Given the description of an element on the screen output the (x, y) to click on. 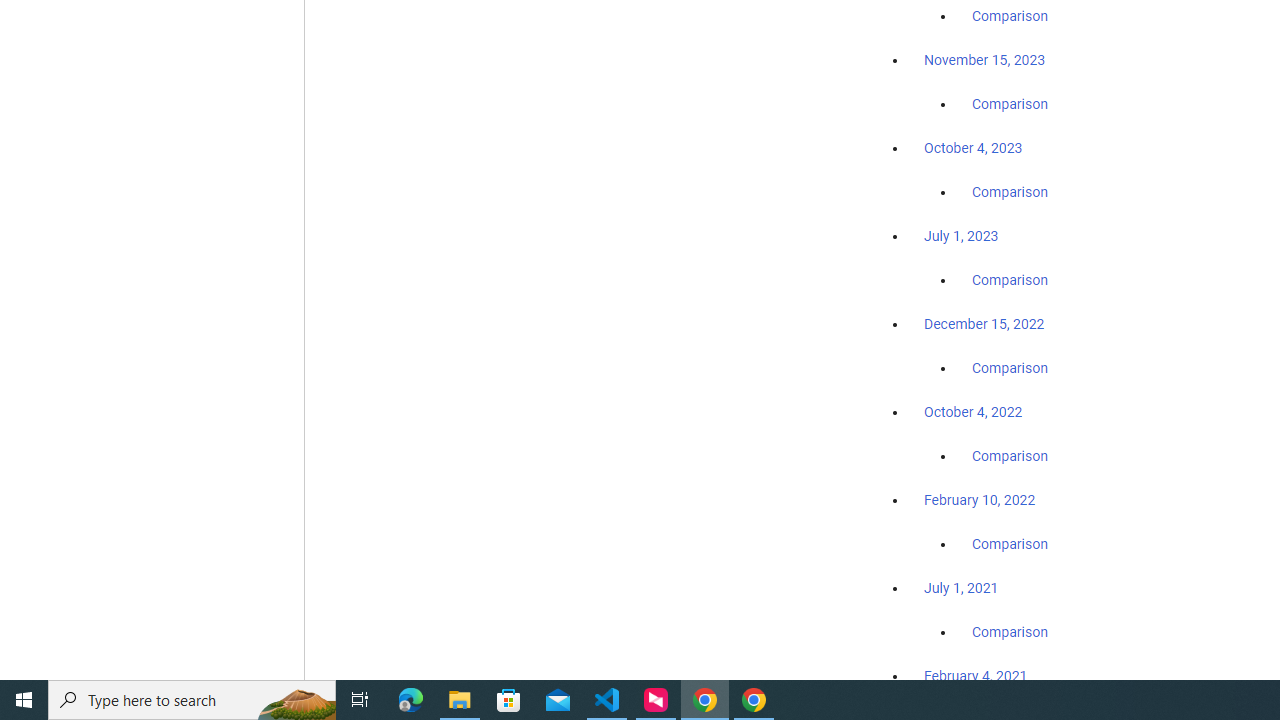
July 1, 2023 (961, 236)
October 4, 2023 (973, 148)
December 15, 2022 (984, 323)
July 1, 2021 (961, 587)
October 4, 2022 (973, 412)
February 10, 2022 (979, 500)
Comparison (1009, 631)
November 15, 2023 (984, 60)
February 4, 2021 (975, 675)
